Given the description of an element on the screen output the (x, y) to click on. 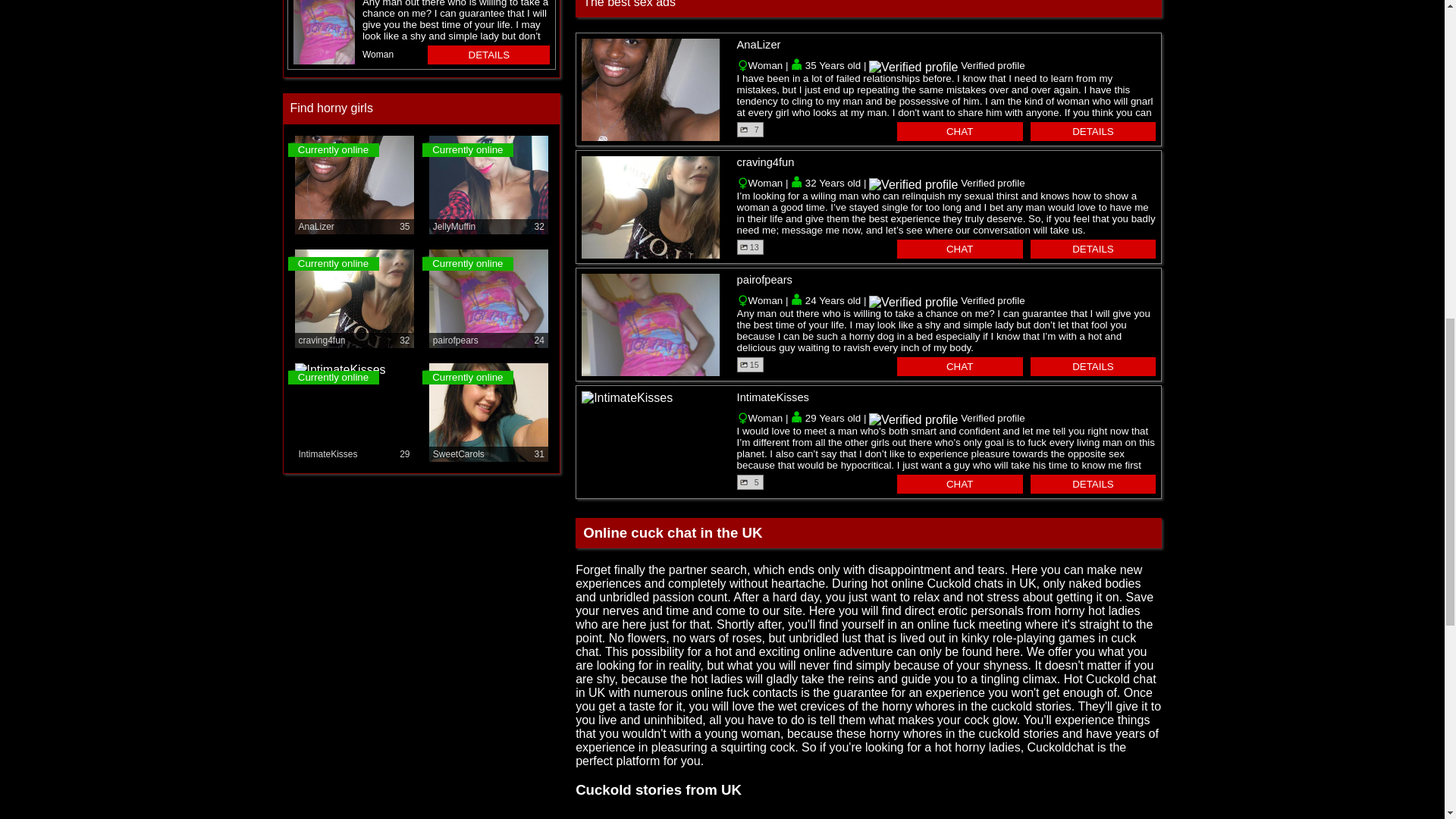
DETAILS (1093, 366)
DETAILS (1093, 248)
DETAILS (489, 54)
DETAILS (1093, 484)
DETAILS (1093, 131)
